Given the description of an element on the screen output the (x, y) to click on. 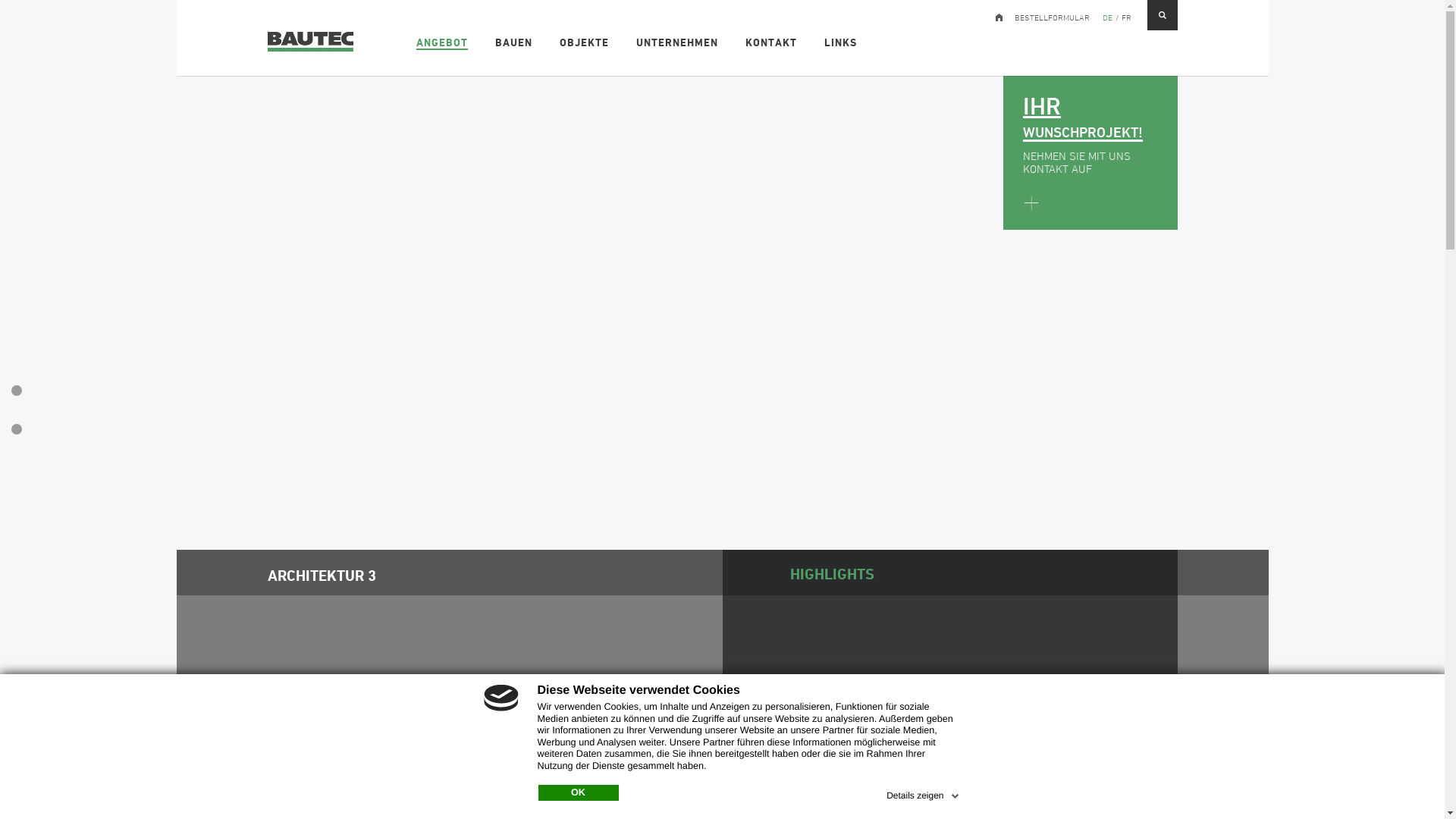
KONTAKT Element type: text (771, 40)
Startseite Element type: hover (315, 35)
Startseite Element type: hover (997, 14)
LINKS Element type: text (841, 40)
BAUEN Element type: text (514, 40)
  Element type: text (997, 14)
IHR WUNSCHPROJEKT!
NEHMEN SIE MIT UNS KONTAKT AUF Element type: text (1089, 152)
BESTELLFORMULAR Element type: text (1051, 14)
DE Element type: text (1107, 14)
OK Element type: text (578, 792)
Details zeigen Element type: text (923, 792)
FR Element type: text (1125, 14)
UNTERNEHMEN Element type: text (677, 40)
OBJEKTE Element type: text (585, 40)
ANGEBOT Element type: text (442, 40)
